Given the description of an element on the screen output the (x, y) to click on. 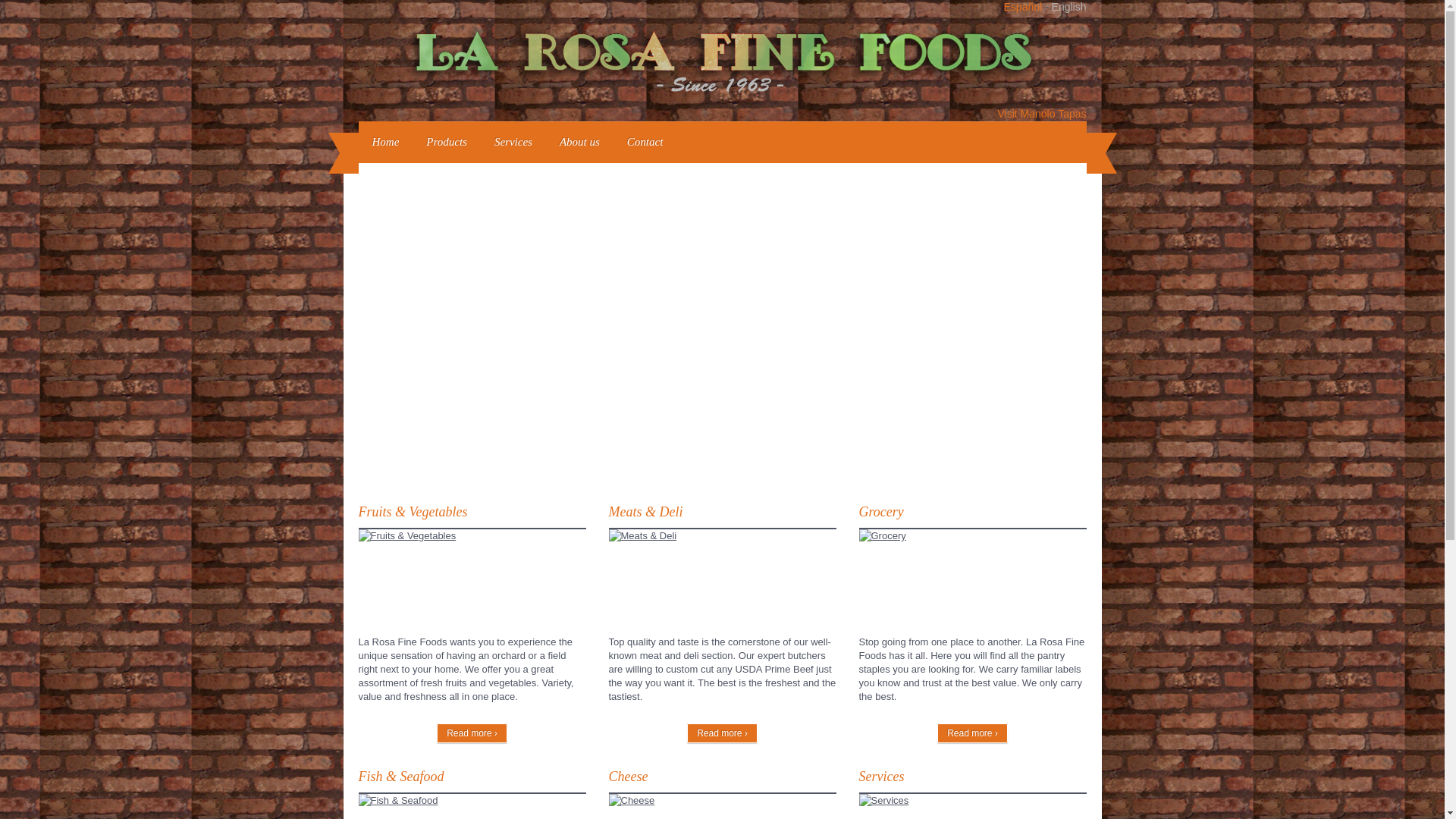
Next (1072, 322)
Previous (371, 322)
Read more (471, 800)
Cheese (627, 776)
Contact (644, 141)
Services (881, 776)
Read more (471, 535)
Read more (471, 732)
Services (513, 141)
Grocery (880, 511)
Products (446, 141)
Visit Manolo Tapas (1041, 113)
Home (385, 141)
About us (579, 141)
